Given the description of an element on the screen output the (x, y) to click on. 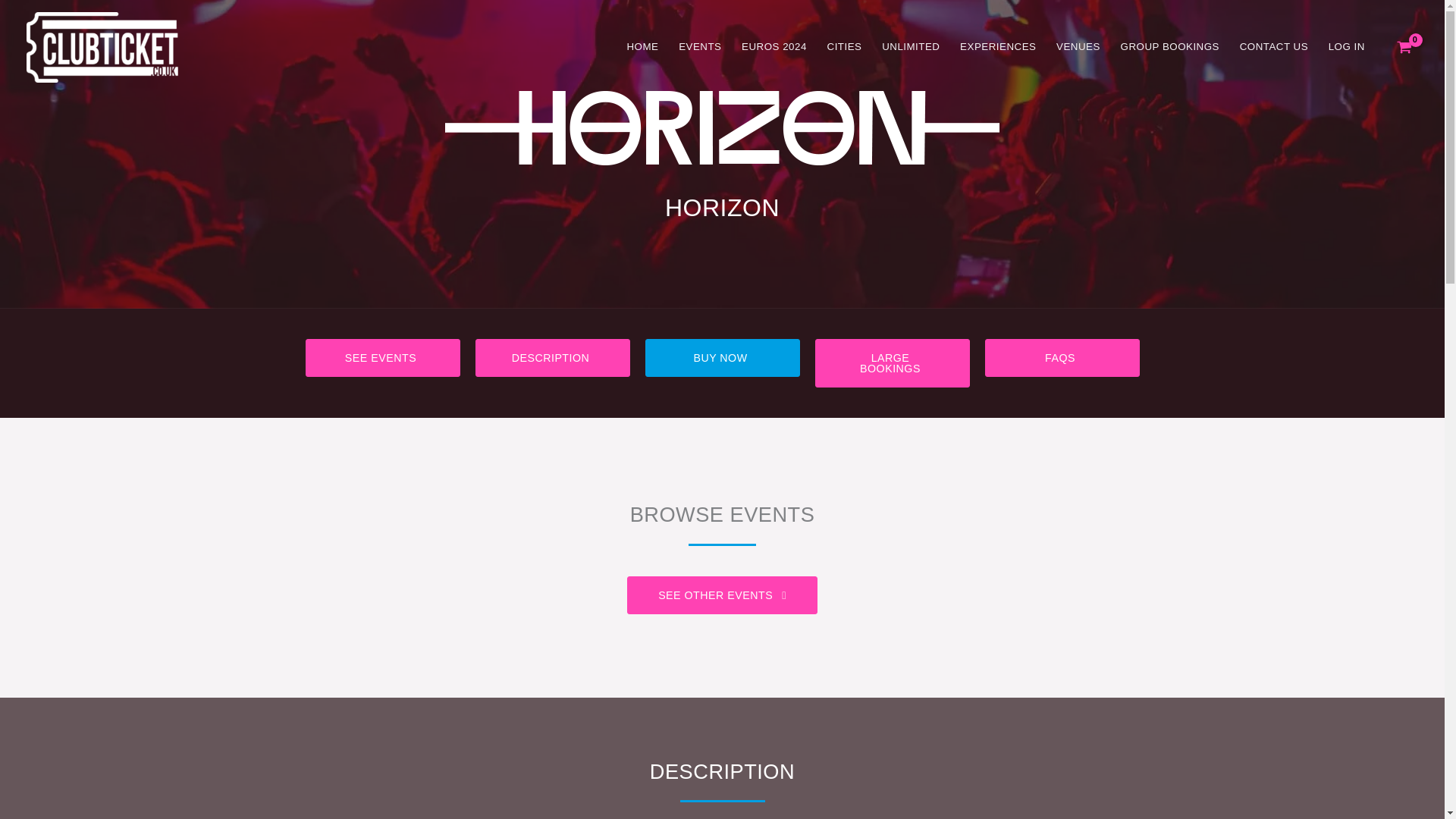
LOG IN (1345, 46)
GROUP BOOKINGS (1168, 46)
SEE OTHER EVENTS (721, 595)
DESCRIPTION (551, 357)
EXPERIENCES (998, 46)
BUY NOW (722, 357)
EVENTS (700, 46)
VENUES (1077, 46)
CITIES (844, 46)
CONTACT US (1272, 46)
LARGE BOOKINGS (891, 363)
EUROS 2024 (774, 46)
SEE EVENTS (382, 357)
UNLIMITED (911, 46)
FAQS (1061, 357)
